Given the description of an element on the screen output the (x, y) to click on. 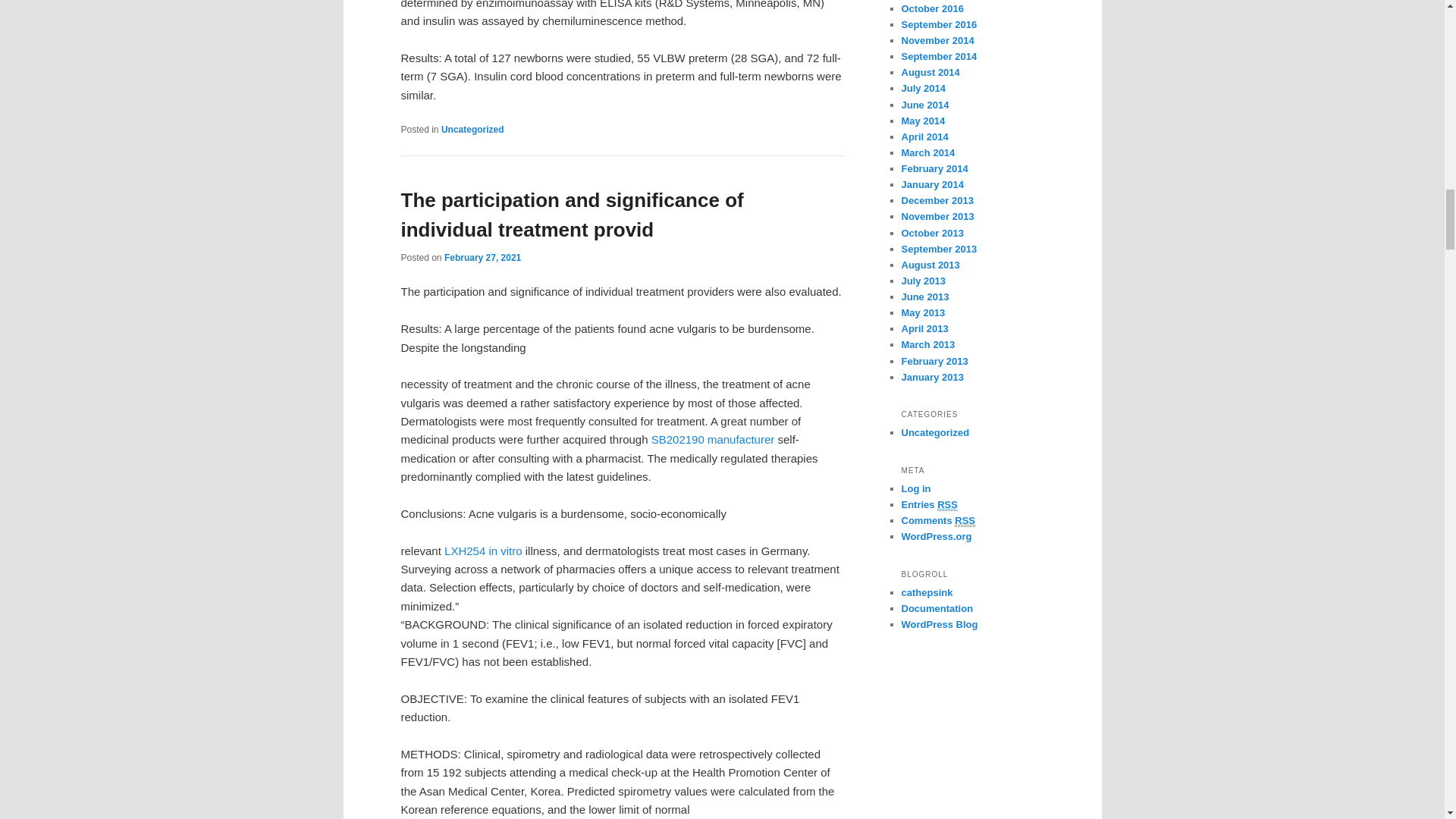
LXH254 in vitro (483, 550)
February 27, 2021 (482, 257)
Uncategorized (472, 129)
View all posts in Uncategorized (472, 129)
3:36 am (482, 257)
SB202190 manufacturer (712, 439)
